Given the description of an element on the screen output the (x, y) to click on. 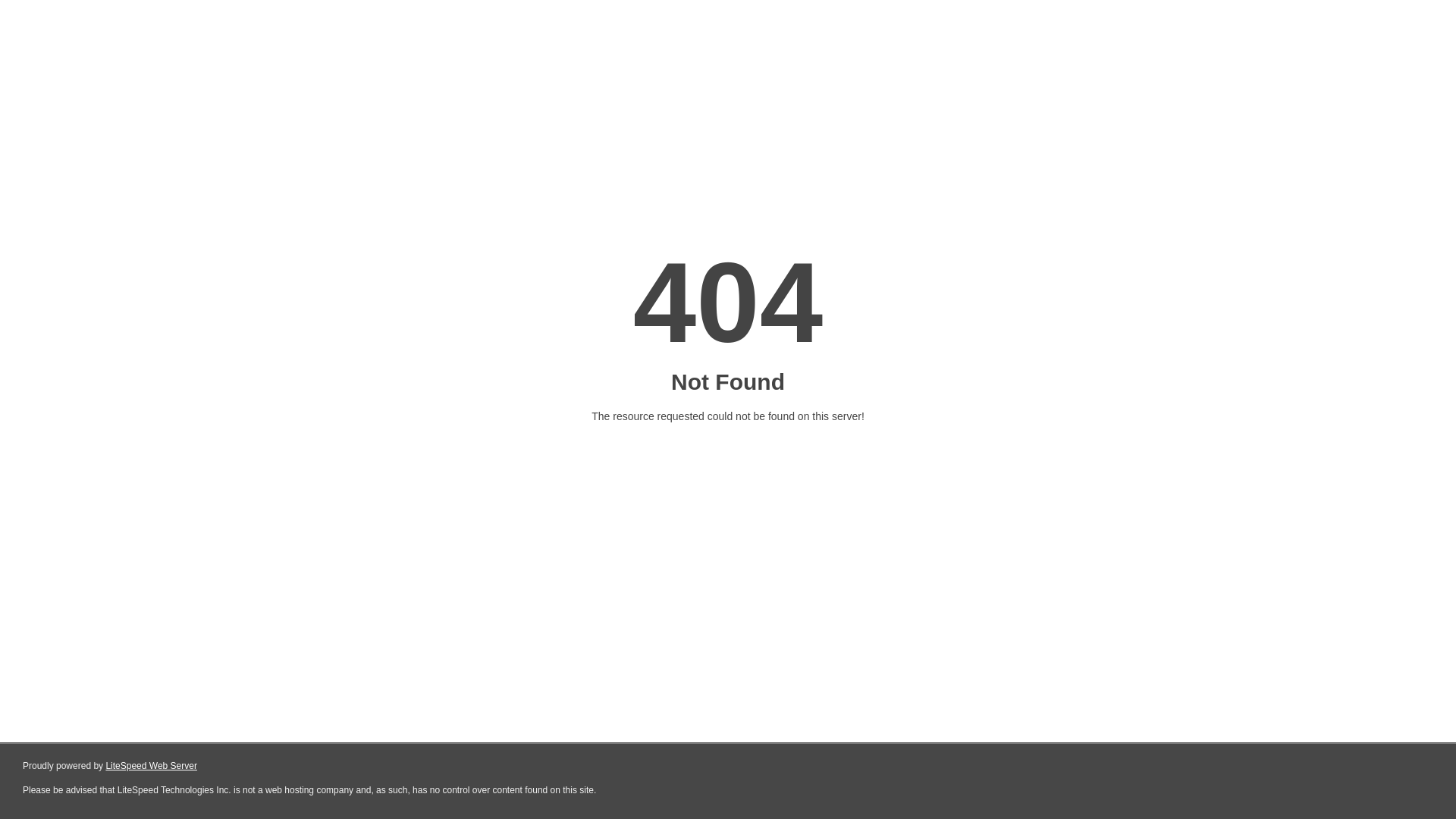
LiteSpeed Web Server Element type: text (151, 765)
